Given the description of an element on the screen output the (x, y) to click on. 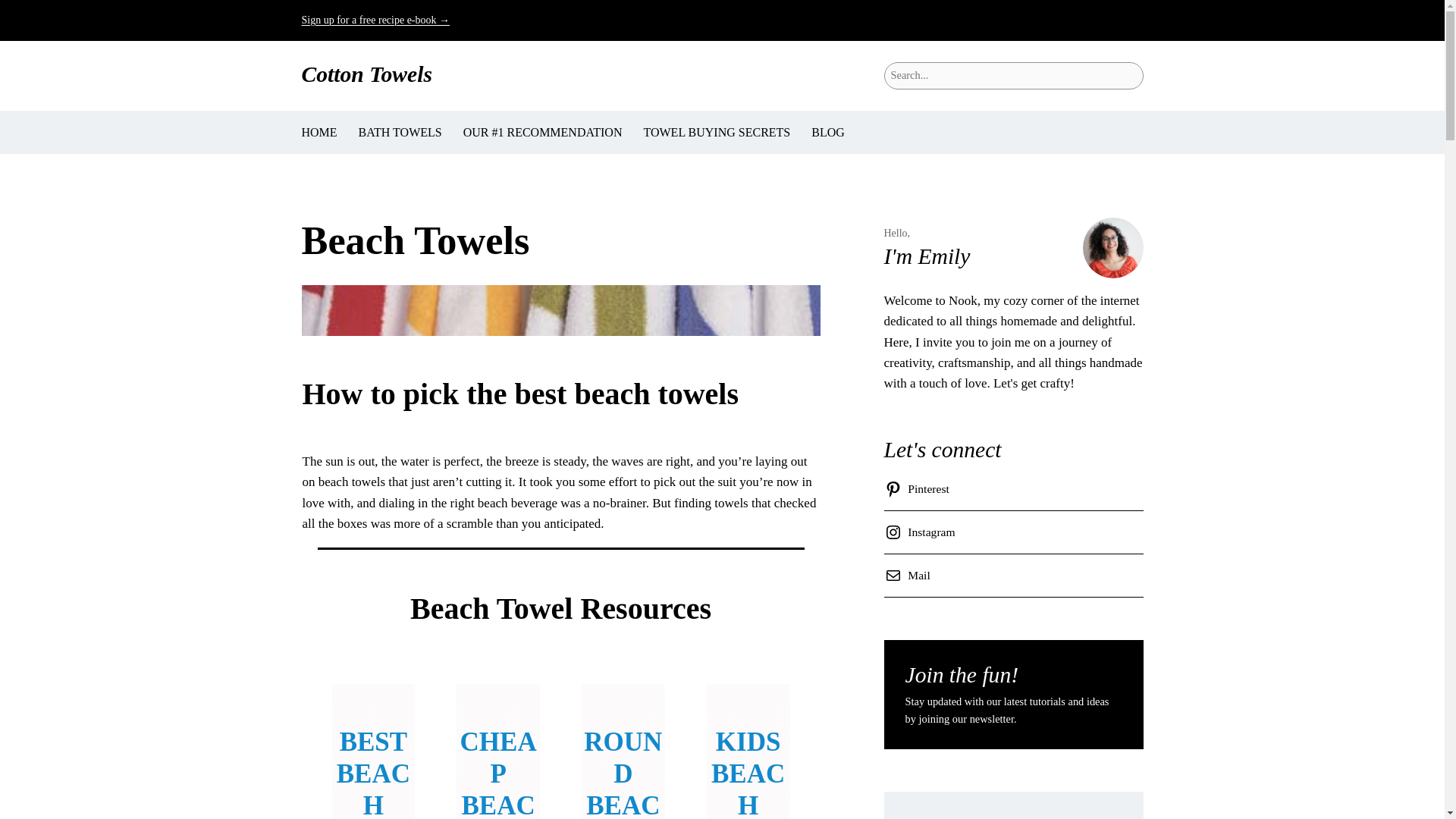
Instagram (921, 532)
BATH TOWELS (400, 132)
BLOG (827, 132)
Cotton Towels (366, 74)
HOME (319, 132)
Mail (909, 575)
Pinterest (919, 488)
TOWEL BUYING SECRETS (716, 132)
